Given the description of an element on the screen output the (x, y) to click on. 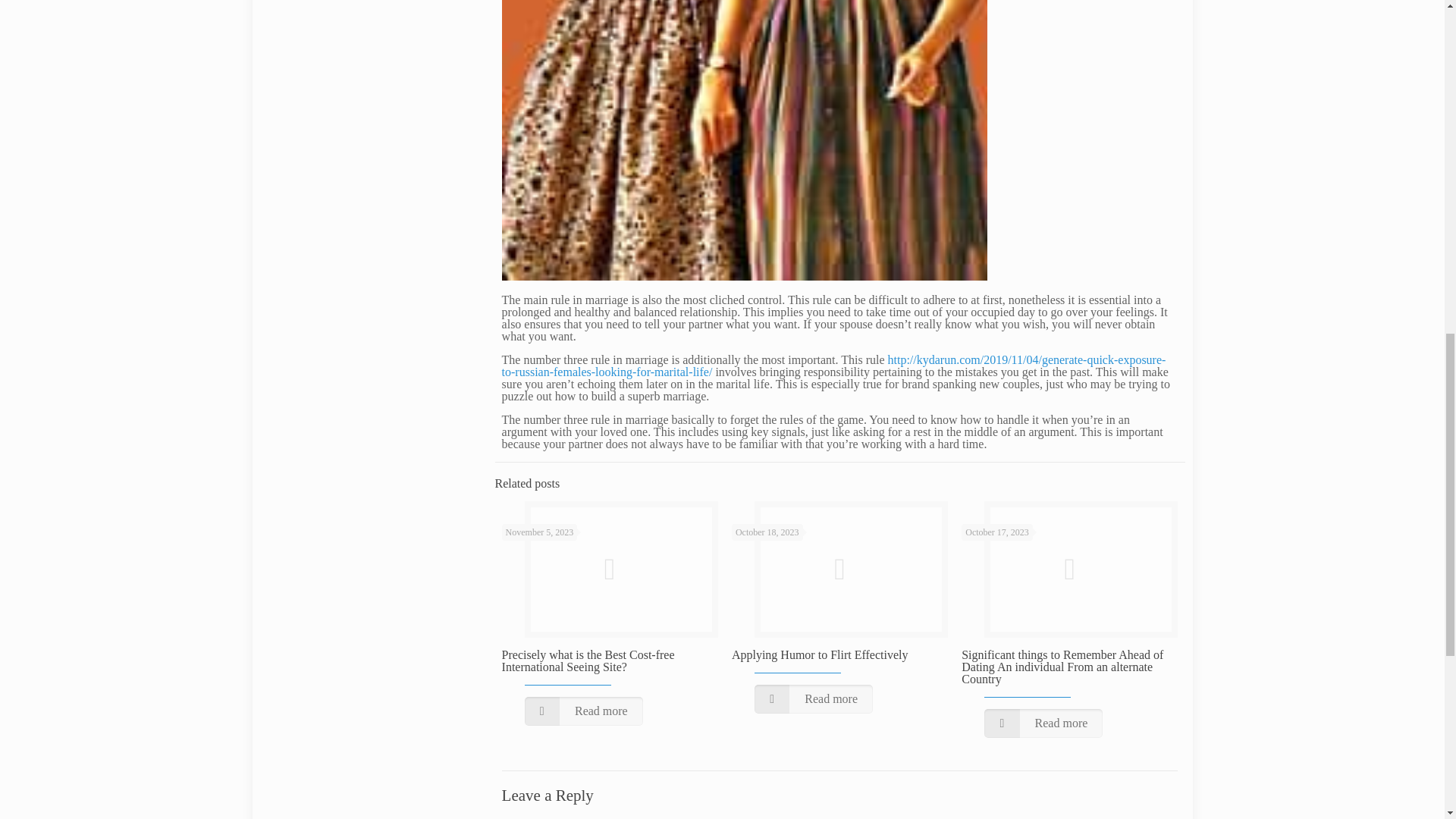
Read more (1043, 723)
Read more (813, 698)
Applying Humor to Flirt Effectively (820, 654)
Read more (583, 710)
